Given the description of an element on the screen output the (x, y) to click on. 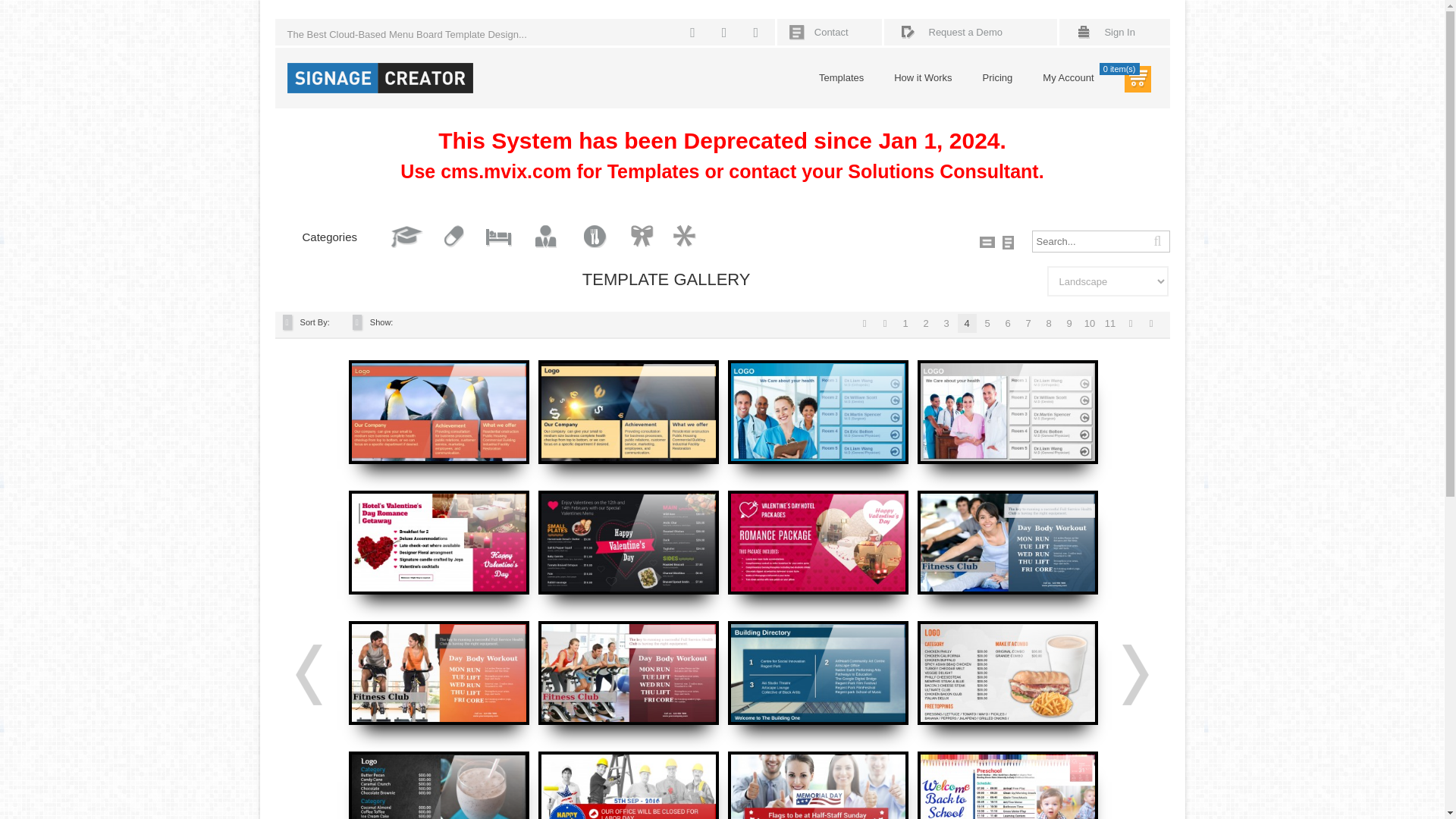
Corporate (545, 236)
Health Care (453, 236)
Pricing (997, 77)
Request a Demo (965, 31)
Contact (830, 31)
Miscellaneous (683, 236)
Education (407, 236)
Sign In (1118, 31)
Hospitality (498, 236)
Restaurant (595, 236)
How it Works (922, 77)
Seasonal (641, 236)
My Account (1067, 77)
Templates (840, 77)
